Given the description of an element on the screen output the (x, y) to click on. 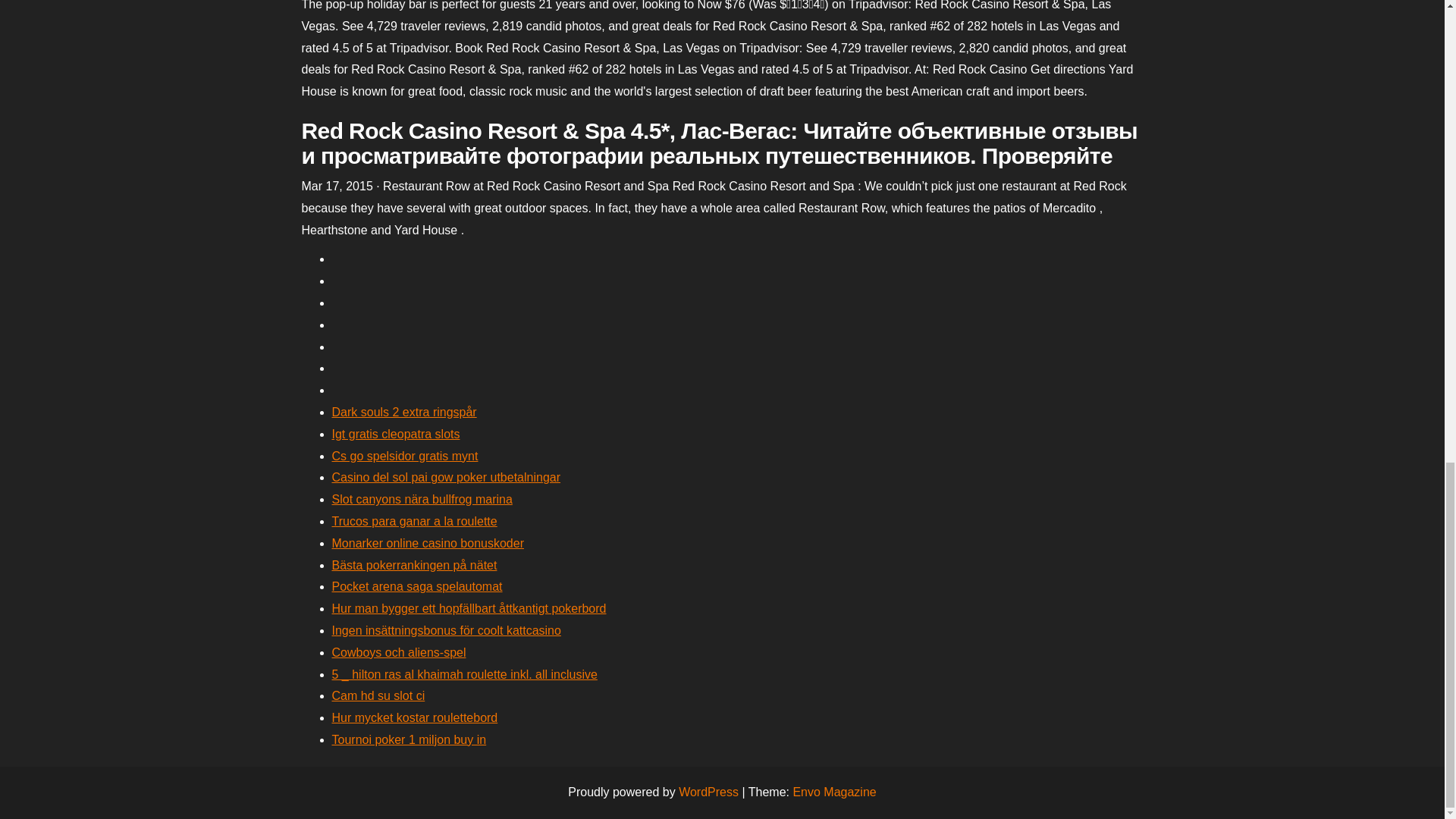
Cam hd su slot ci (378, 695)
Trucos para ganar a la roulette (414, 521)
Cs go spelsidor gratis mynt (405, 455)
Hur mycket kostar roulettebord (414, 717)
Monarker online casino bonuskoder (427, 543)
Envo Magazine (834, 791)
WordPress (708, 791)
Tournoi poker 1 miljon buy in (408, 739)
Igt gratis cleopatra slots (395, 433)
Cowboys och aliens-spel (398, 652)
Pocket arena saga spelautomat (416, 585)
Casino del sol pai gow poker utbetalningar (445, 477)
